Given the description of an element on the screen output the (x, y) to click on. 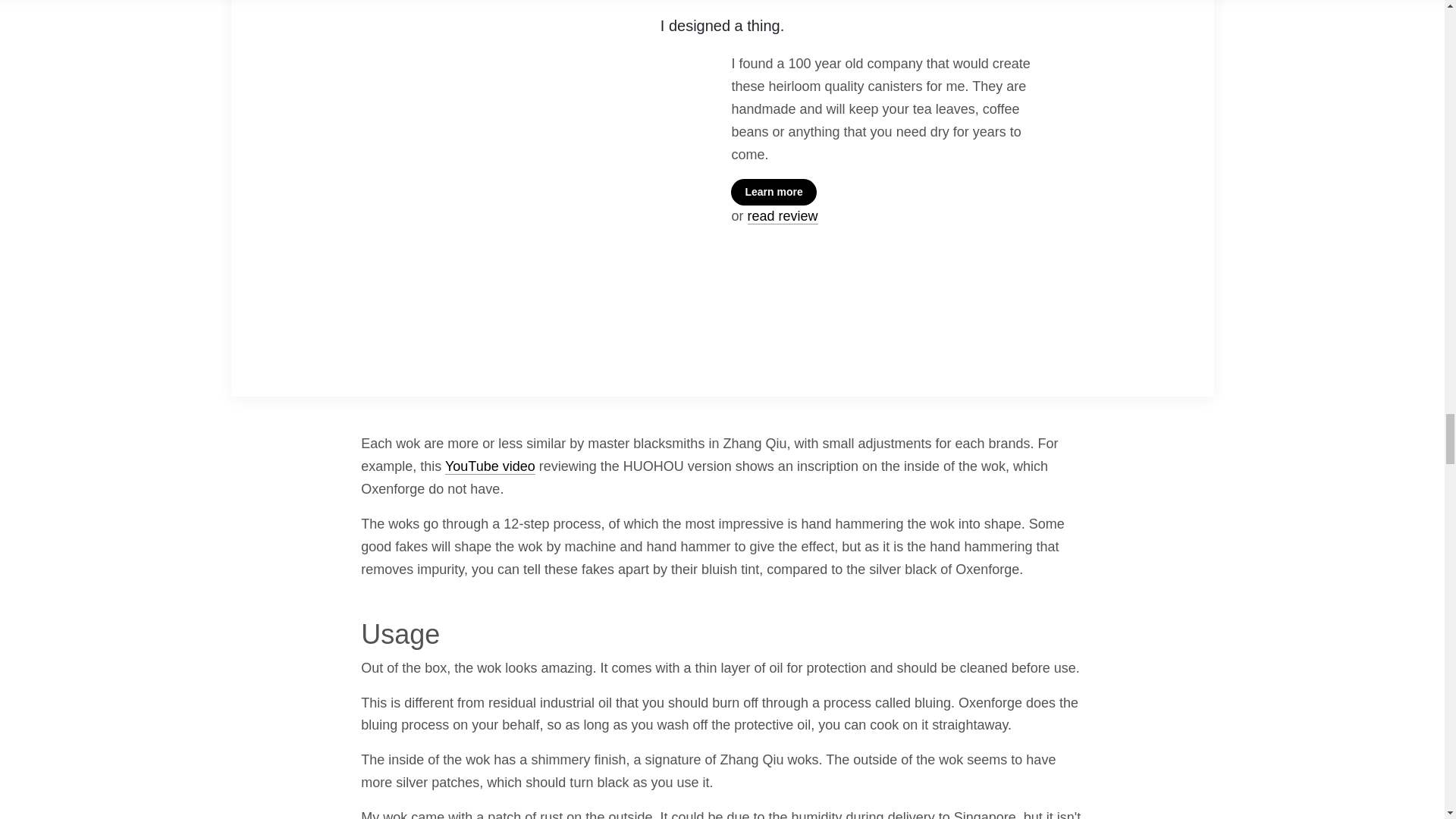
read review (783, 216)
Learn more (884, 192)
YouTube video (490, 466)
Learn more (772, 192)
